Given the description of an element on the screen output the (x, y) to click on. 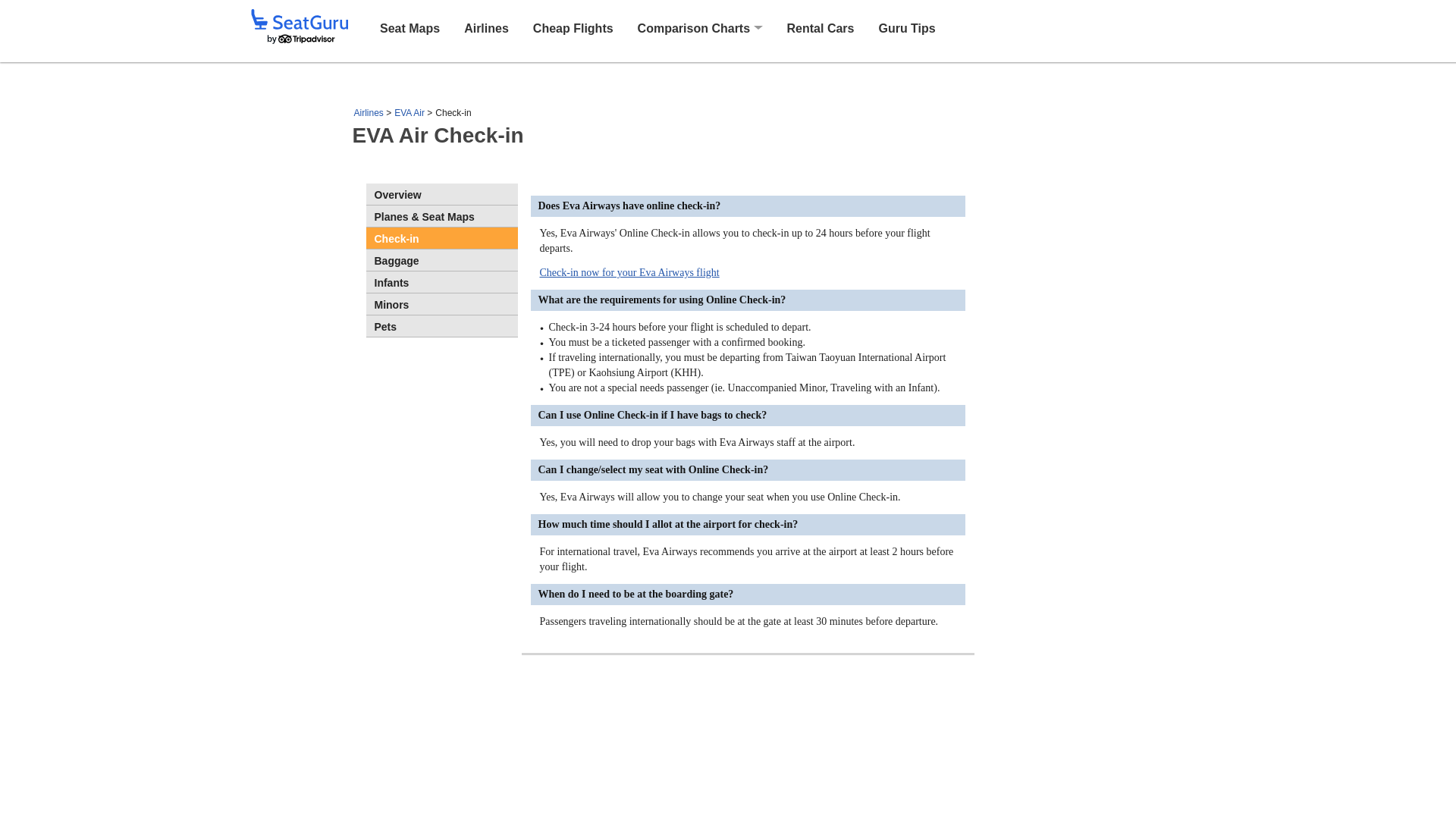
Baggage (440, 260)
Overview (440, 193)
EVA Air (409, 112)
Check-in now for your Eva Airways flight (629, 272)
Infants (440, 281)
Airlines (367, 112)
Check-in (440, 237)
Rental Cars (820, 27)
Cheap Flights (572, 27)
Comparison Charts (693, 28)
